Given the description of an element on the screen output the (x, y) to click on. 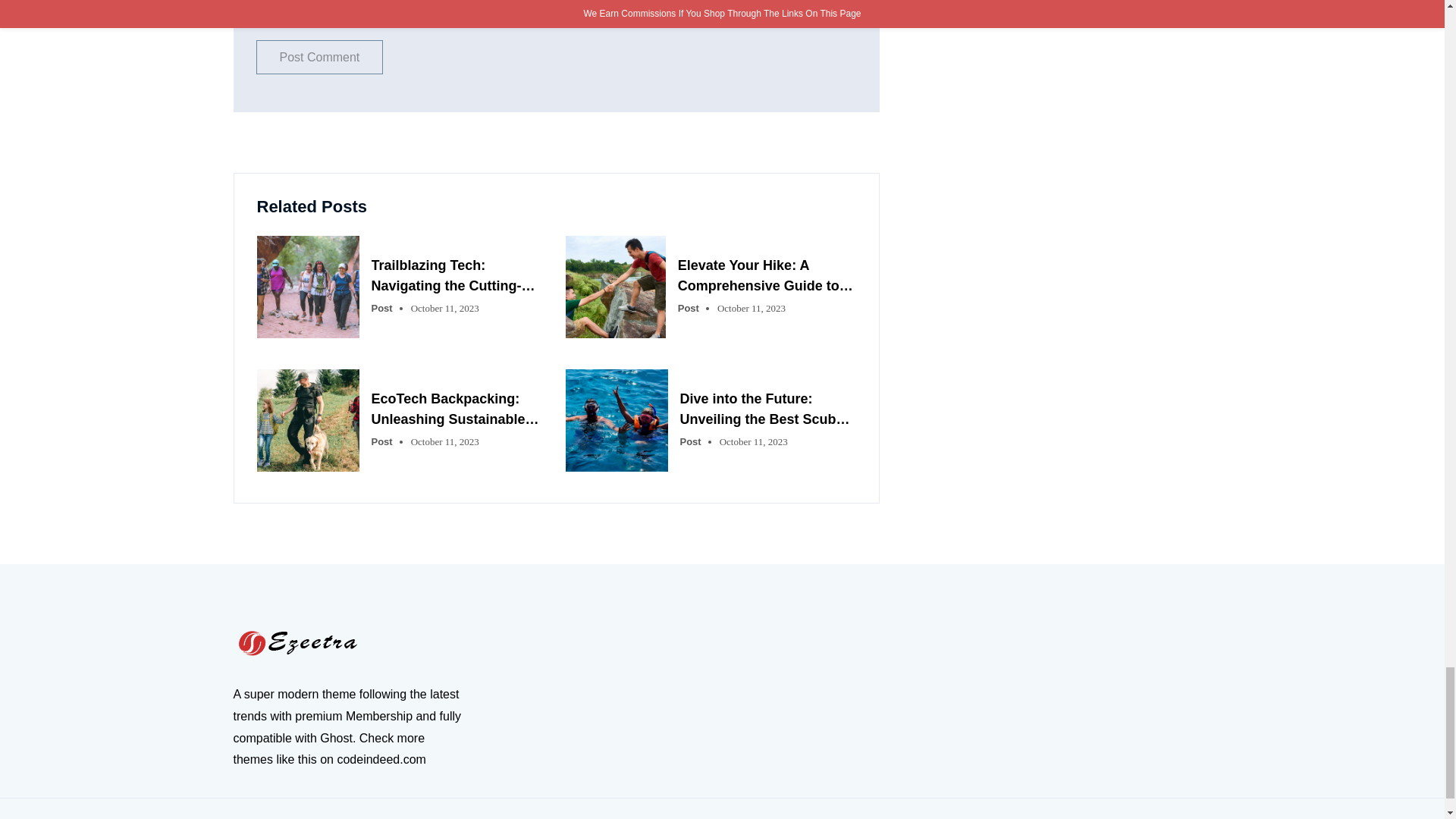
Post Comment (320, 57)
Post Comment (320, 57)
